Given the description of an element on the screen output the (x, y) to click on. 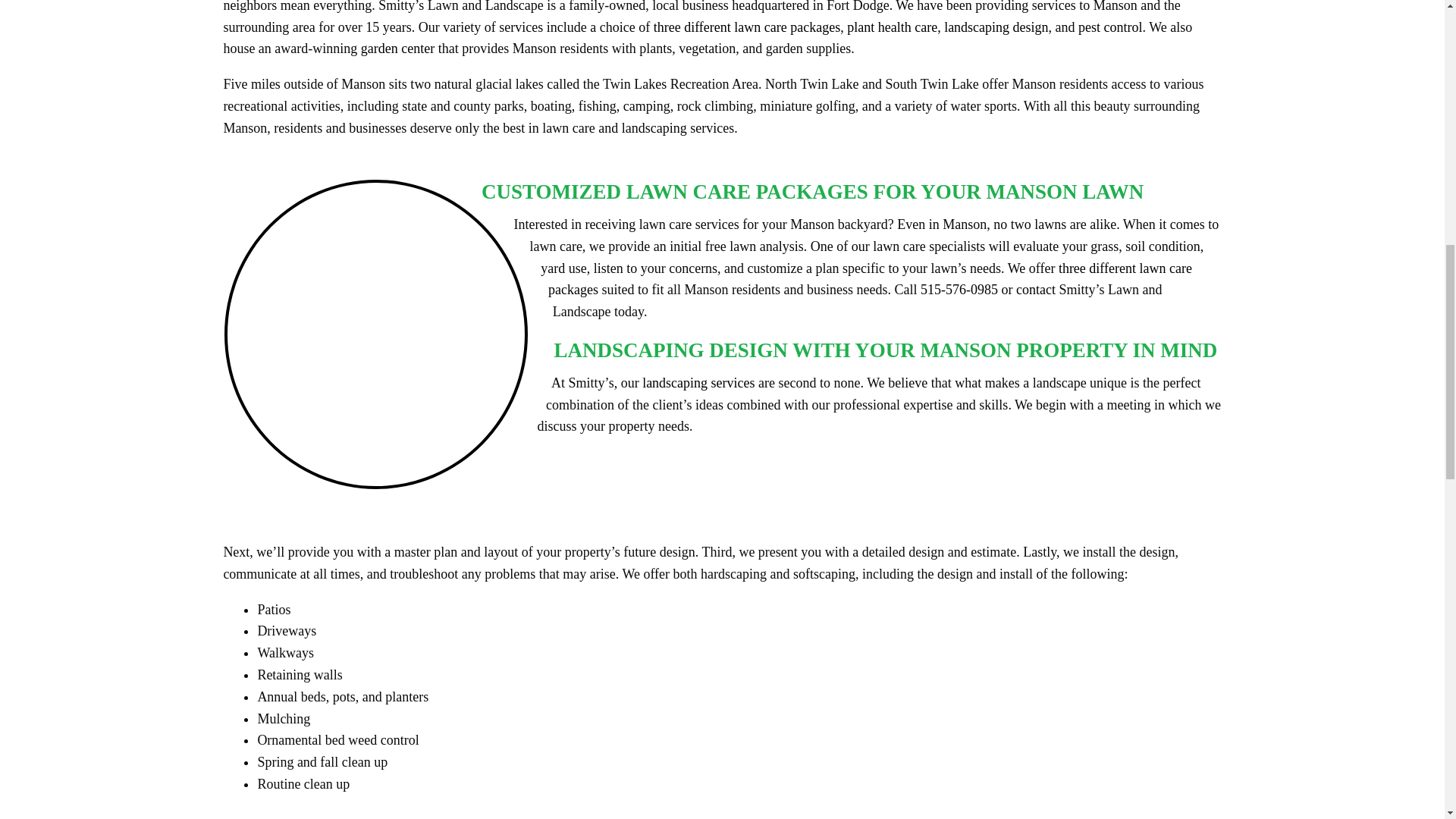
pest control (1109, 27)
garden center (397, 48)
three different lawn care packages (747, 27)
landscaping design (995, 27)
three different lawn care packages (870, 279)
plant health care (892, 27)
Customized Lawn Care Packages for Your Manson Lawn (387, 343)
515-576-0985 (958, 289)
